Given the description of an element on the screen output the (x, y) to click on. 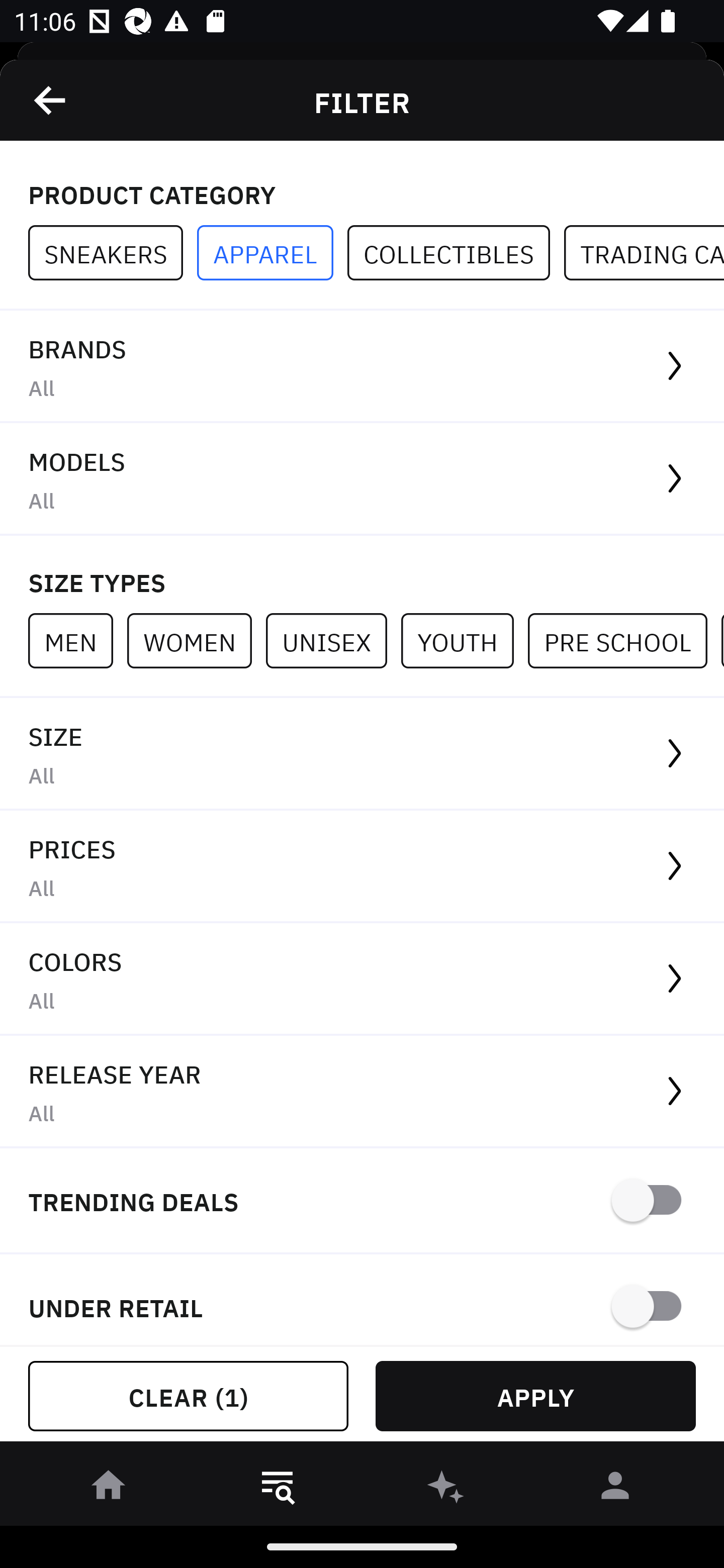
 (50, 100)
SNEAKERS (112, 252)
APPAREL (271, 252)
COLLECTIBLES (455, 252)
TRADING CARDS (643, 252)
BRANDS All (362, 366)
MODELS All (362, 479)
MEN (77, 640)
WOMEN (196, 640)
UNISEX (333, 640)
YOUTH (464, 640)
PRE SCHOOL (624, 640)
SIZE All (362, 753)
PRICES All (362, 866)
COLORS All (362, 979)
RELEASE YEAR All (362, 1091)
TRENDING DEALS (362, 1200)
UNDER RETAIL (362, 1299)
CLEAR (1) (188, 1396)
APPLY (535, 1396)
󰋜 (108, 1488)
󱎸 (277, 1488)
󰫢 (446, 1488)
󰀄 (615, 1488)
